Given the description of an element on the screen output the (x, y) to click on. 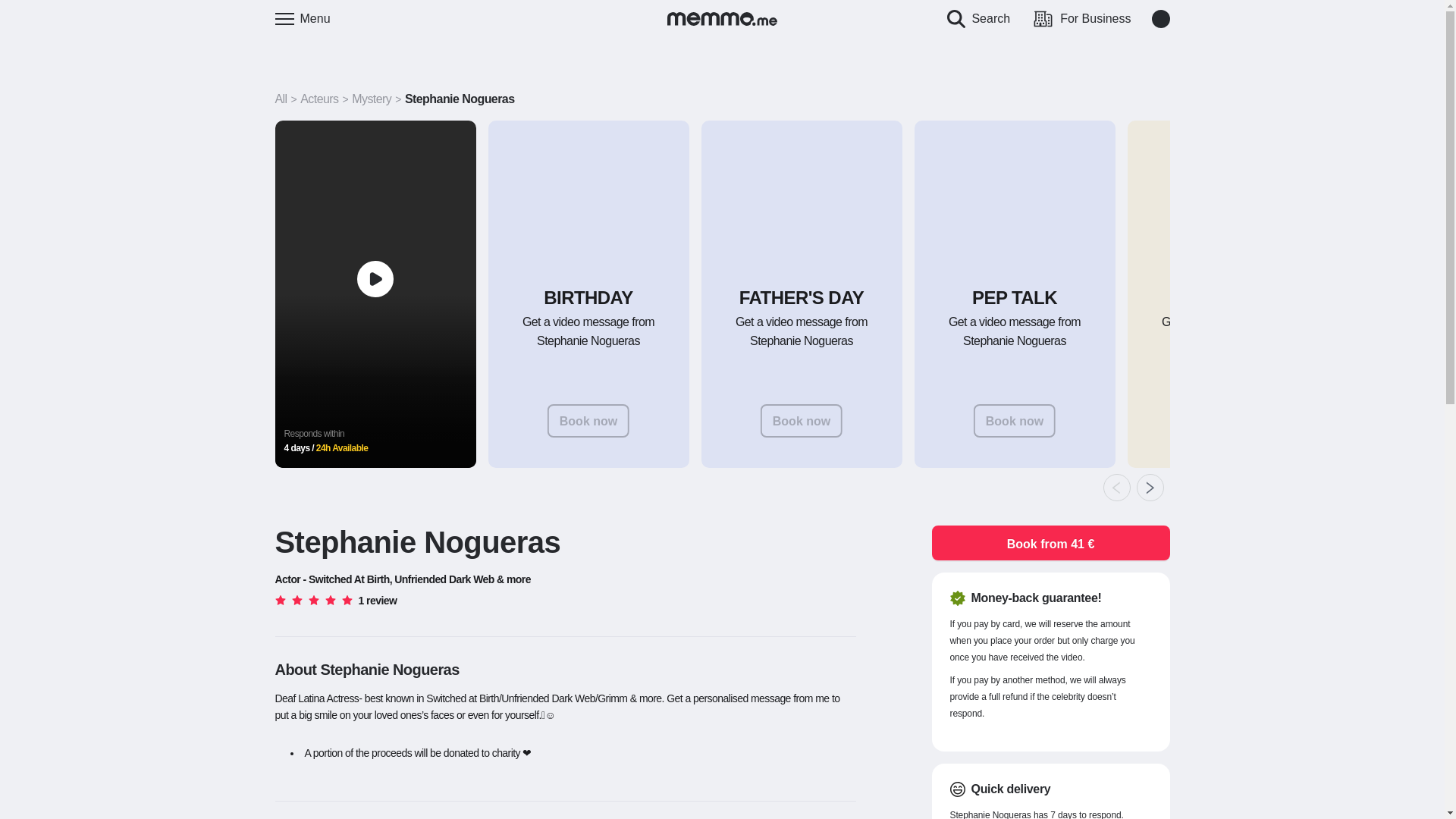
For Business (1088, 18)
memmo - France (721, 18)
Search (982, 18)
memmo - France (721, 18)
Menu (302, 18)
